Given the description of an element on the screen output the (x, y) to click on. 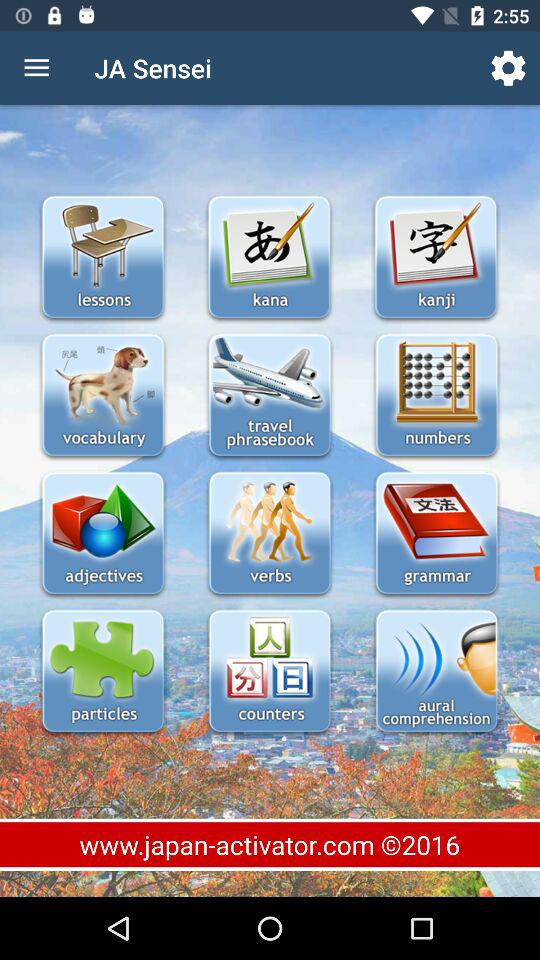
open lesson (102, 534)
